Given the description of an element on the screen output the (x, y) to click on. 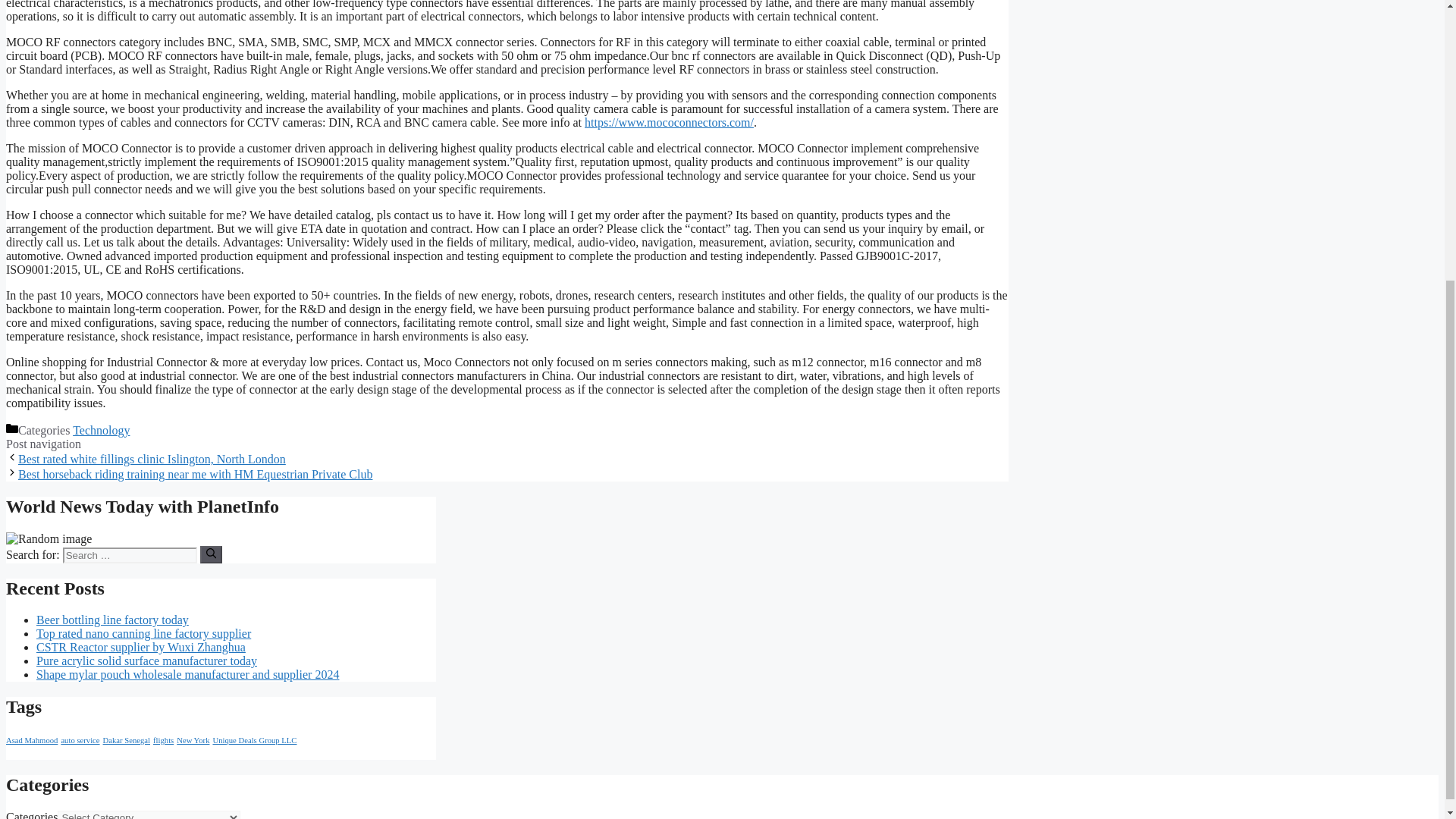
Shape mylar pouch wholesale manufacturer and supplier 2024 (187, 674)
Best rated white fillings clinic Islington, North London (151, 459)
Next (194, 473)
Top rated nano canning line factory supplier (143, 633)
Dakar Senegal (126, 740)
Asad Mahmood (31, 740)
auto service (80, 740)
CSTR Reactor supplier by Wuxi Zhanghua (141, 646)
Pure acrylic solid surface manufacturer today (146, 660)
